Given the description of an element on the screen output the (x, y) to click on. 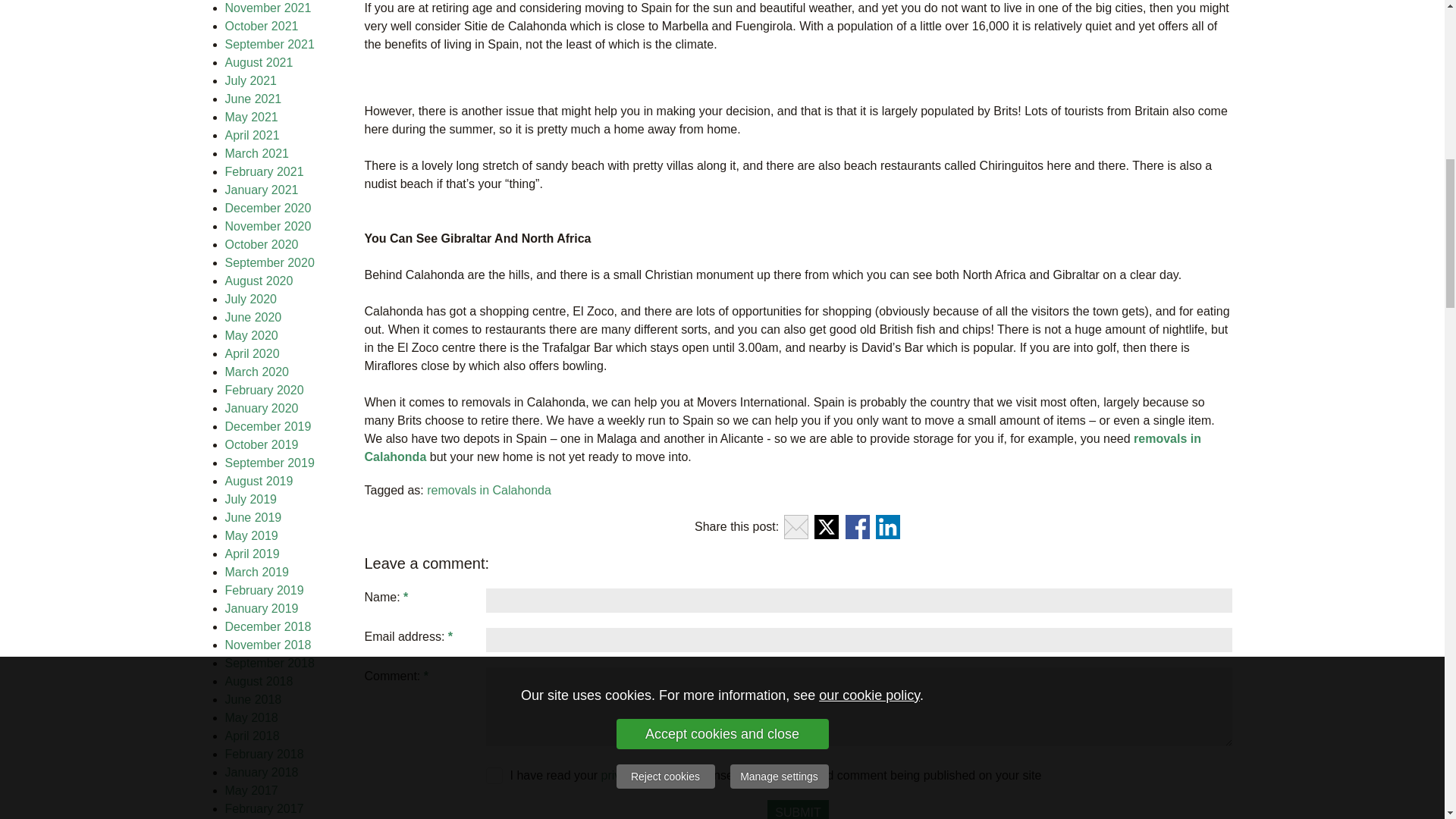
removals in Calahonda (488, 490)
SUBMIT (797, 809)
removals in Calahonda (784, 447)
privacy policy (637, 775)
